Given the description of an element on the screen output the (x, y) to click on. 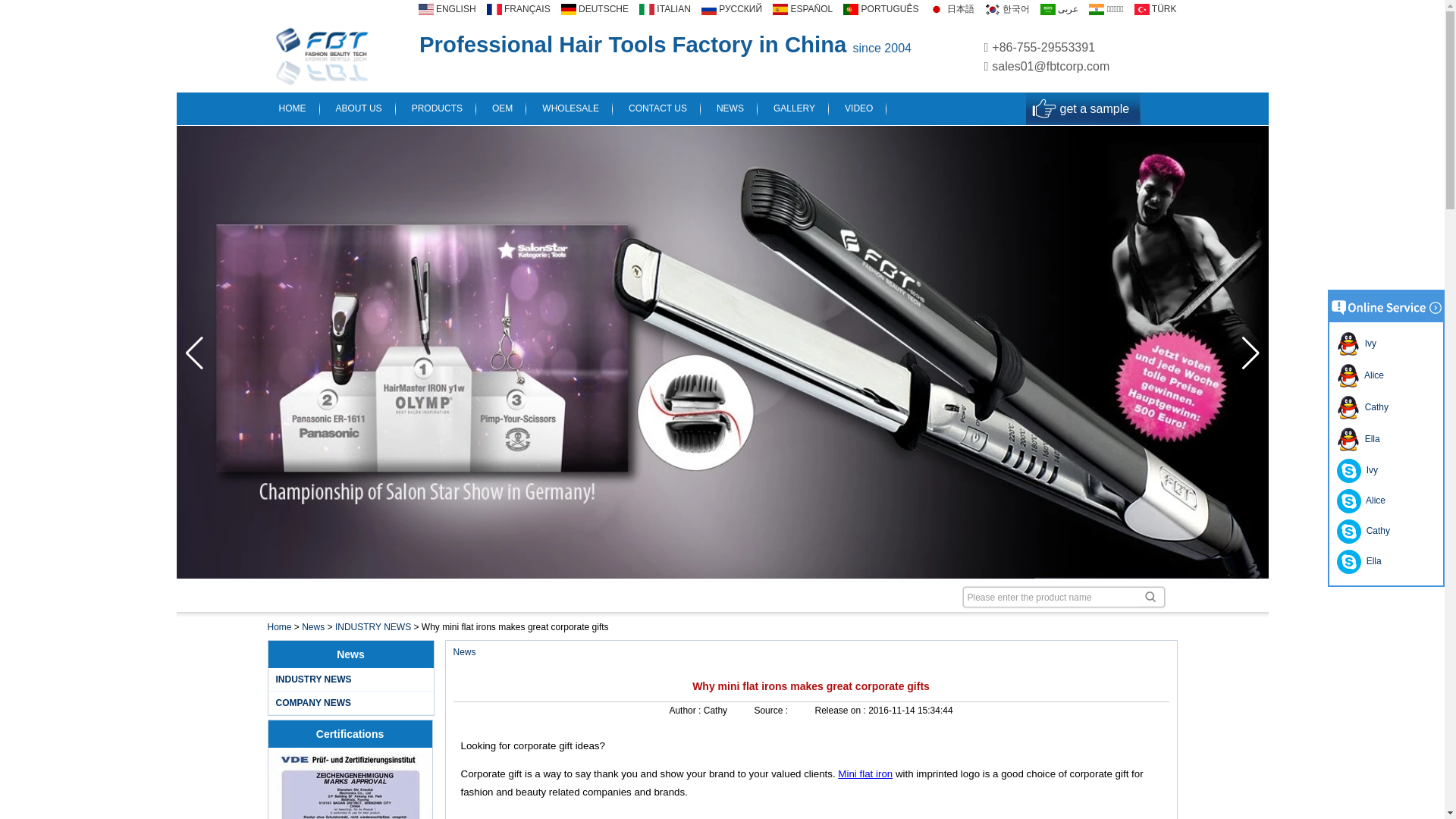
Please enter the product name (1063, 597)
Shenzhen Fashion Beauty Technology Co.,Ltd (342, 56)
HOME (294, 108)
Please enter the product name (1063, 597)
COMPANY NEWS (314, 702)
WHOLESALE (574, 108)
ITALIAN (664, 9)
China COMPANY NEWS manufacturer (314, 702)
VIDEO (861, 108)
INDUSTRY NEWS (314, 679)
Professional Hair Tools Factory in China since 2004 (665, 46)
Shenzhen Fashion Beauty Technology Co.,Ltd (320, 55)
ENGLISH (447, 9)
get a sample (1083, 108)
OEM (505, 108)
